Given the description of an element on the screen output the (x, y) to click on. 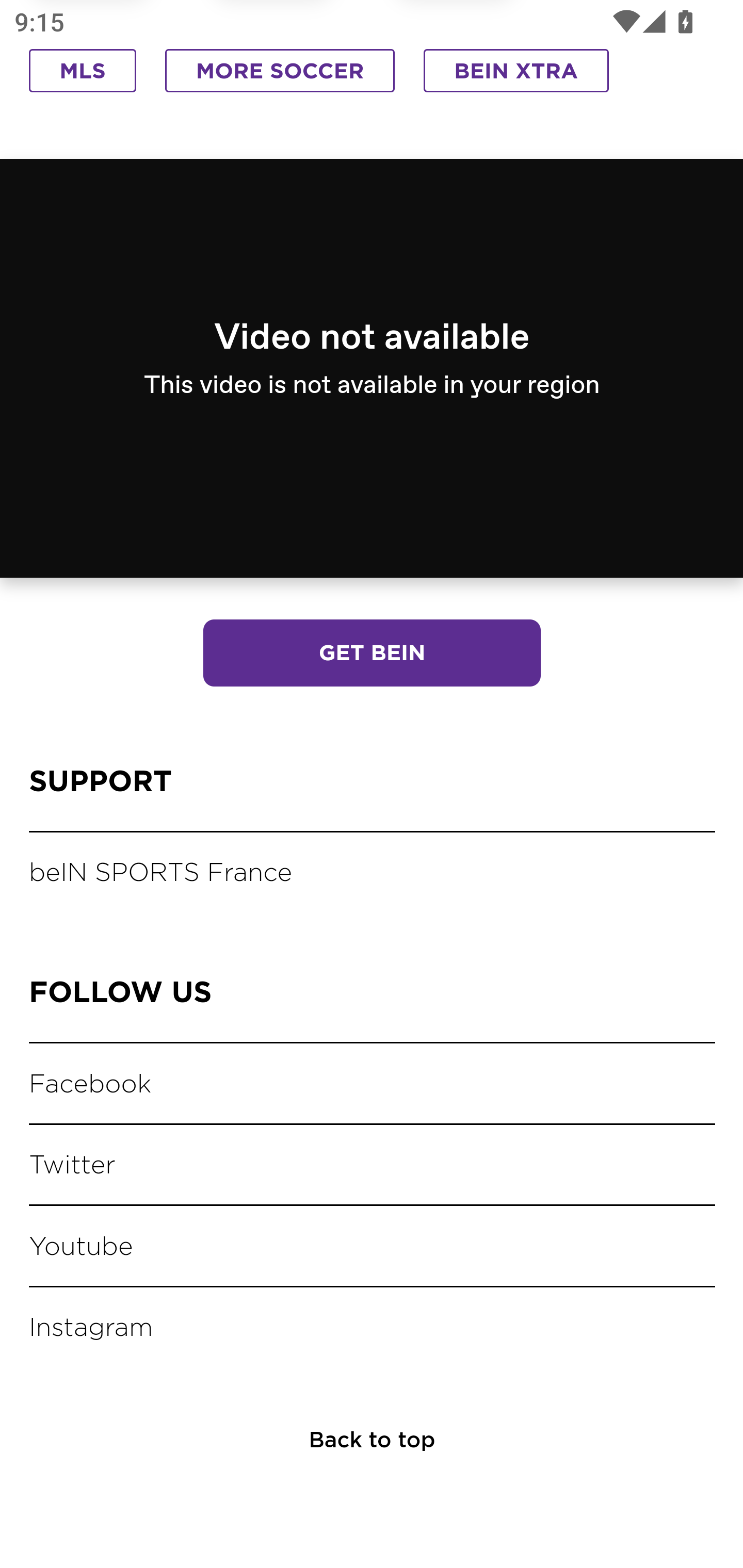
MLS (82, 72)
MORE SOCCER (279, 72)
BEIN XTRA (516, 72)
United States (430, 359)
GET BEIN (371, 654)
beIN SPORTS France (162, 874)
Facebook (92, 1083)
Twitter (74, 1165)
Youtube (82, 1246)
Instagram (93, 1328)
